Given the description of an element on the screen output the (x, y) to click on. 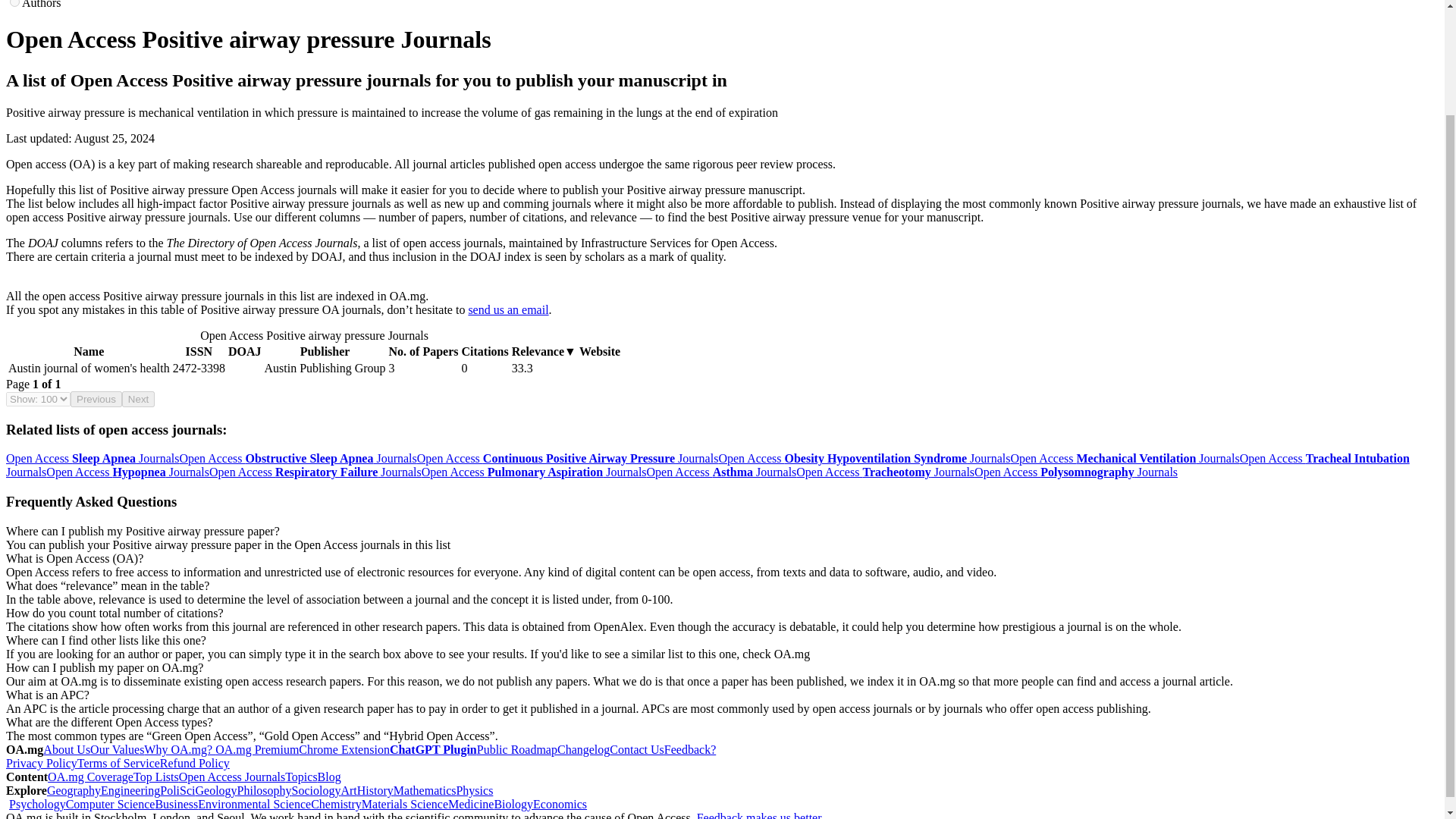
Open Access Tracheal Intubation Journals (707, 465)
Privacy Policy (41, 762)
Toggle SortBy (88, 351)
About Us (66, 748)
Toggle SortBy (198, 351)
Open Access Hypopnea Journals (127, 472)
Open Access Obesity Hypoventilation Syndrome Journals (863, 458)
Open Access Continuous Positive Airway Pressure Journals (567, 458)
Open Access Mechanical Ventilation Journals (1124, 458)
authors (15, 3)
